Given the description of an element on the screen output the (x, y) to click on. 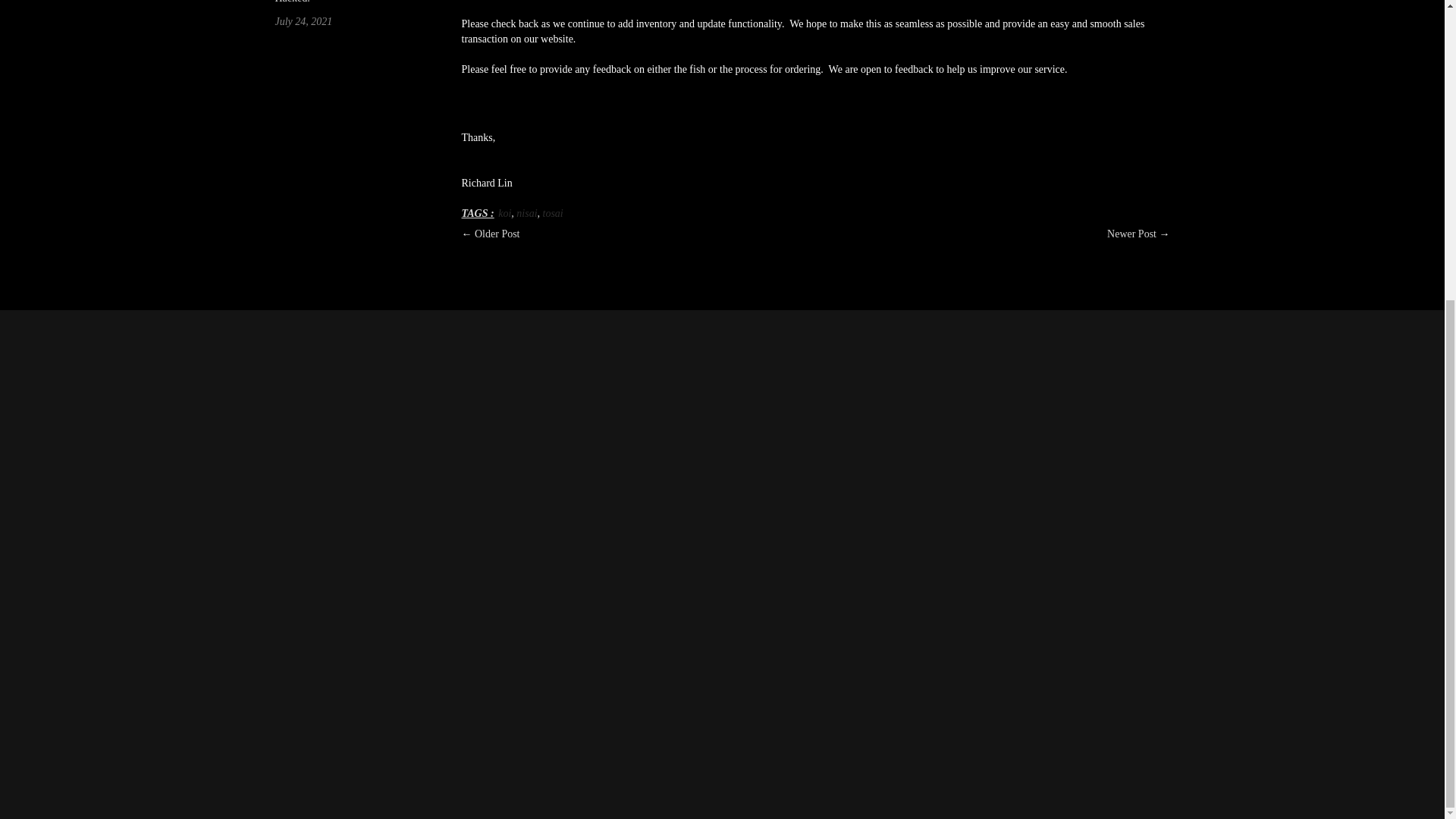
Help widget launcher (1368, 313)
